Given the description of an element on the screen output the (x, y) to click on. 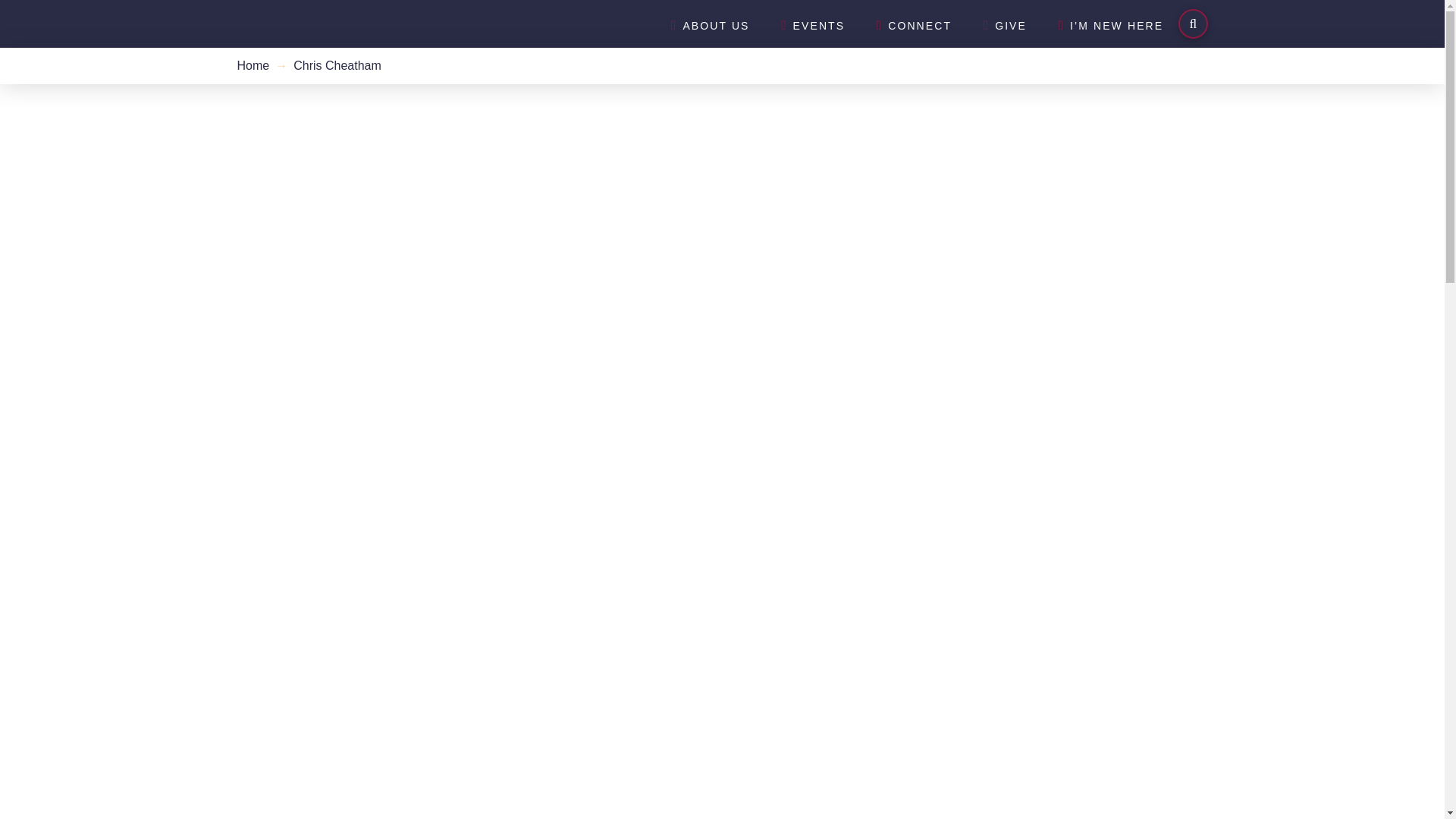
Chris Cheatham (337, 66)
GIVE (1004, 23)
Home (252, 66)
You Are Here (337, 66)
ABOUT US (708, 23)
EVENTS (812, 23)
CONNECT (913, 23)
